Given the description of an element on the screen output the (x, y) to click on. 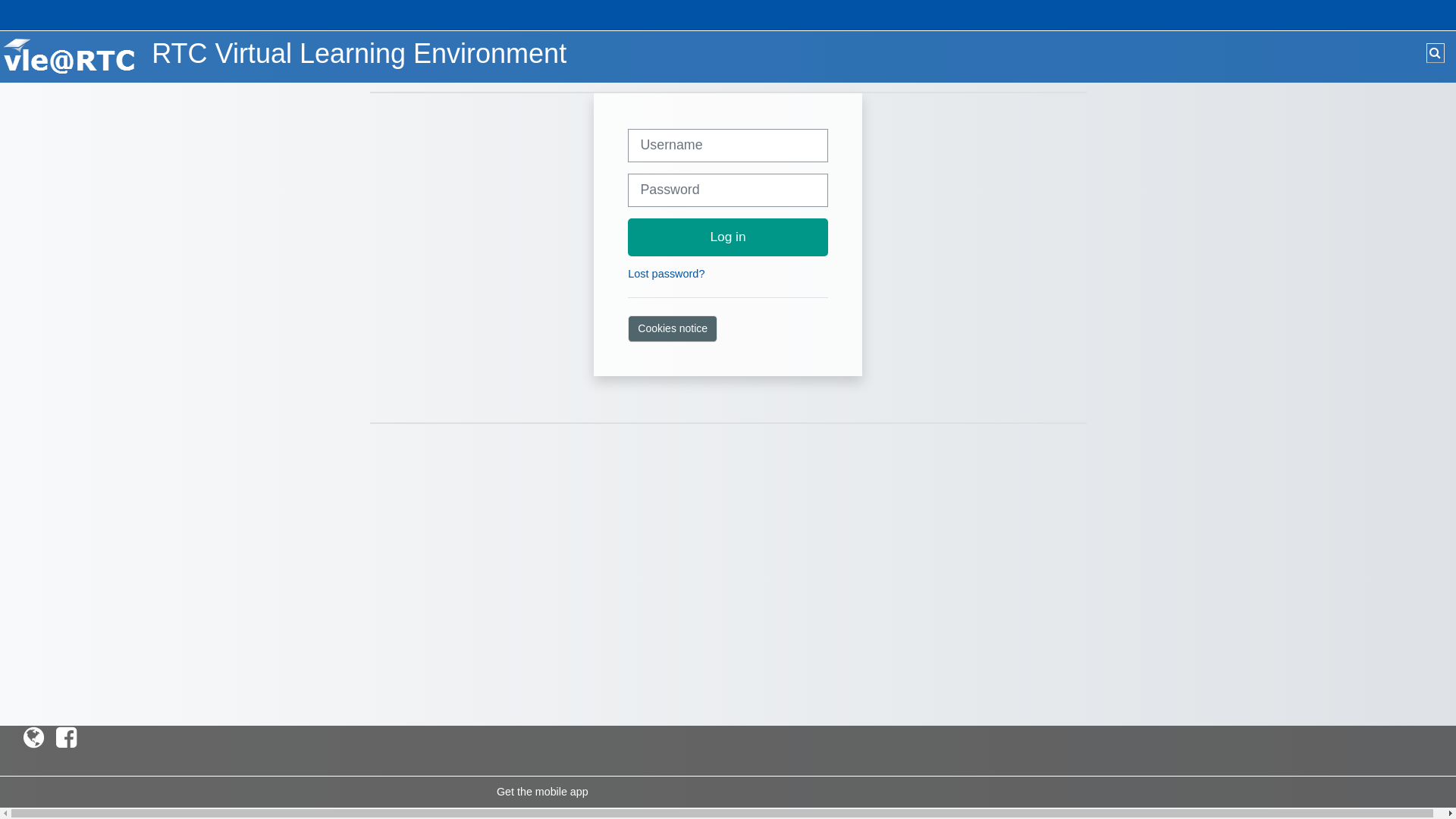
Get the mobile app Element type: text (542, 791)
myRTC Element type: hover (33, 737)
Cookies notice Element type: text (672, 328)
Lost password? Element type: text (665, 273)
Toggle search input Element type: text (1435, 52)
Log in Element type: text (727, 237)
RTC Virtual Learning Environment Element type: hover (70, 56)
Facebook Element type: hover (66, 737)
